Given the description of an element on the screen output the (x, y) to click on. 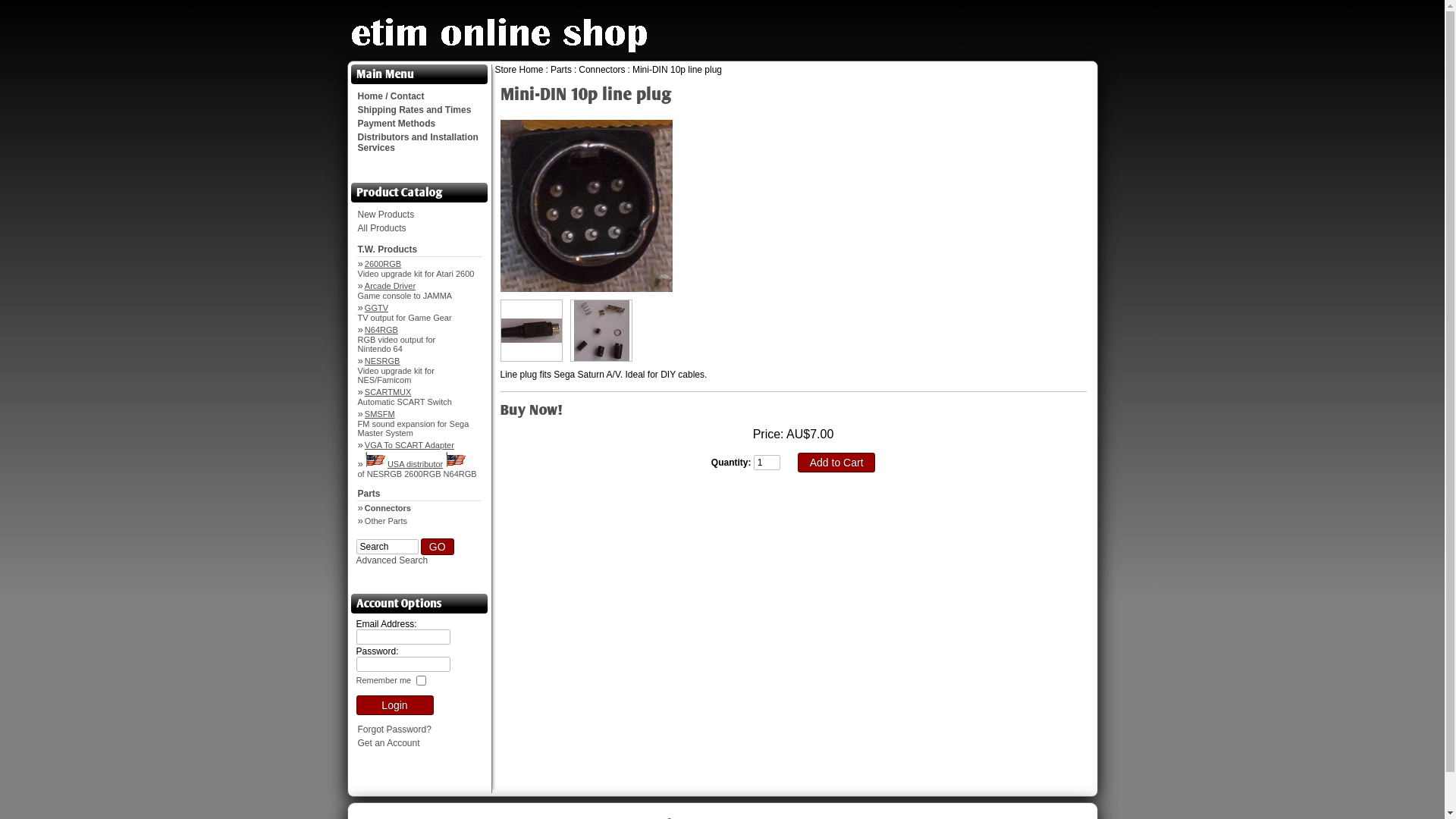
Login Element type: text (394, 705)
Distributors and Installation Services Element type: text (419, 142)
Click to go to our homepage Element type: hover (500, 52)
Home / Contact Element type: text (419, 96)
N64RGB
RGB video output for Nintendo 64 Element type: text (419, 338)
Connectors Element type: text (601, 69)
Add to Cart Element type: text (836, 462)
Advanced Search Element type: text (392, 560)
T.W. Products Element type: text (419, 249)
Store Home Element type: text (518, 69)
Get an Account Element type: text (419, 742)
All Products Element type: text (419, 228)
SCARTMUX
Automatic SCART Switch Element type: text (419, 396)
Parts Element type: text (560, 69)
GO Element type: text (437, 546)
SMSFM
FM sound expansion for Sega Master System Element type: text (419, 422)
 USA distributor 
of NESRGB 2600RGB N64RGB Element type: text (419, 465)
Mini-DIN 10p line plug Element type: text (676, 69)
Remember me Element type: text (392, 679)
Parts Element type: text (419, 493)
New Products Element type: text (419, 214)
2600RGB
Video upgrade kit for Atari 2600 Element type: text (419, 268)
Forgot Password? Element type: text (419, 729)
GGTV
TV output for Game Gear Element type: text (419, 312)
Shipping Rates and Times Element type: text (419, 109)
NESRGB
Video upgrade kit for NES/Famicom Element type: text (419, 369)
Other Parts Element type: text (419, 520)
Connectors Element type: text (419, 507)
VGA To SCART Adapter Element type: text (419, 444)
Arcade Driver
Game console to JAMMA Element type: text (419, 290)
Payment Methods Element type: text (419, 123)
